Given the description of an element on the screen output the (x, y) to click on. 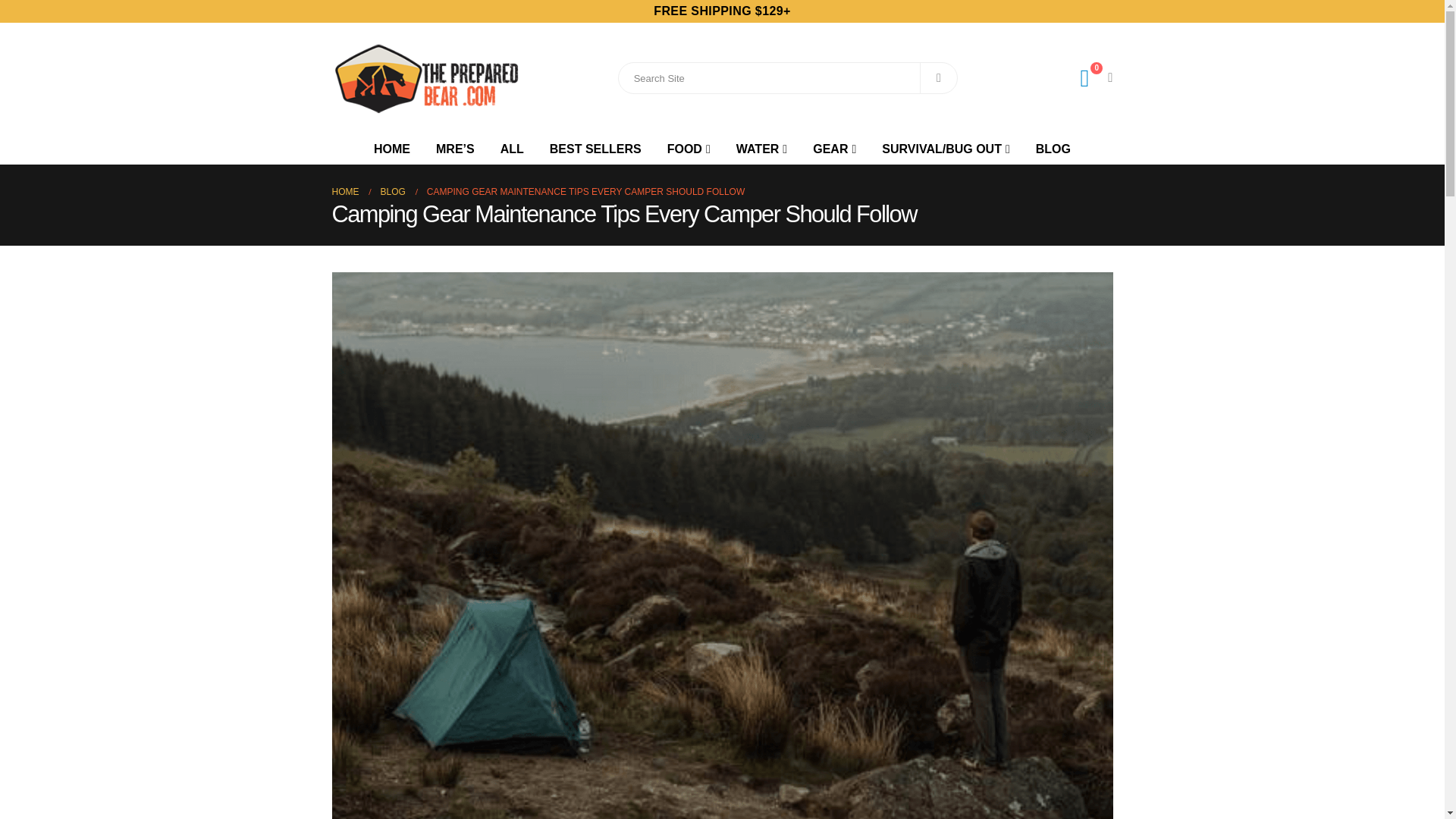
The Prepared Bear - Be Prepared! (426, 78)
Search (939, 78)
Go to Home Page (345, 190)
